Given the description of an element on the screen output the (x, y) to click on. 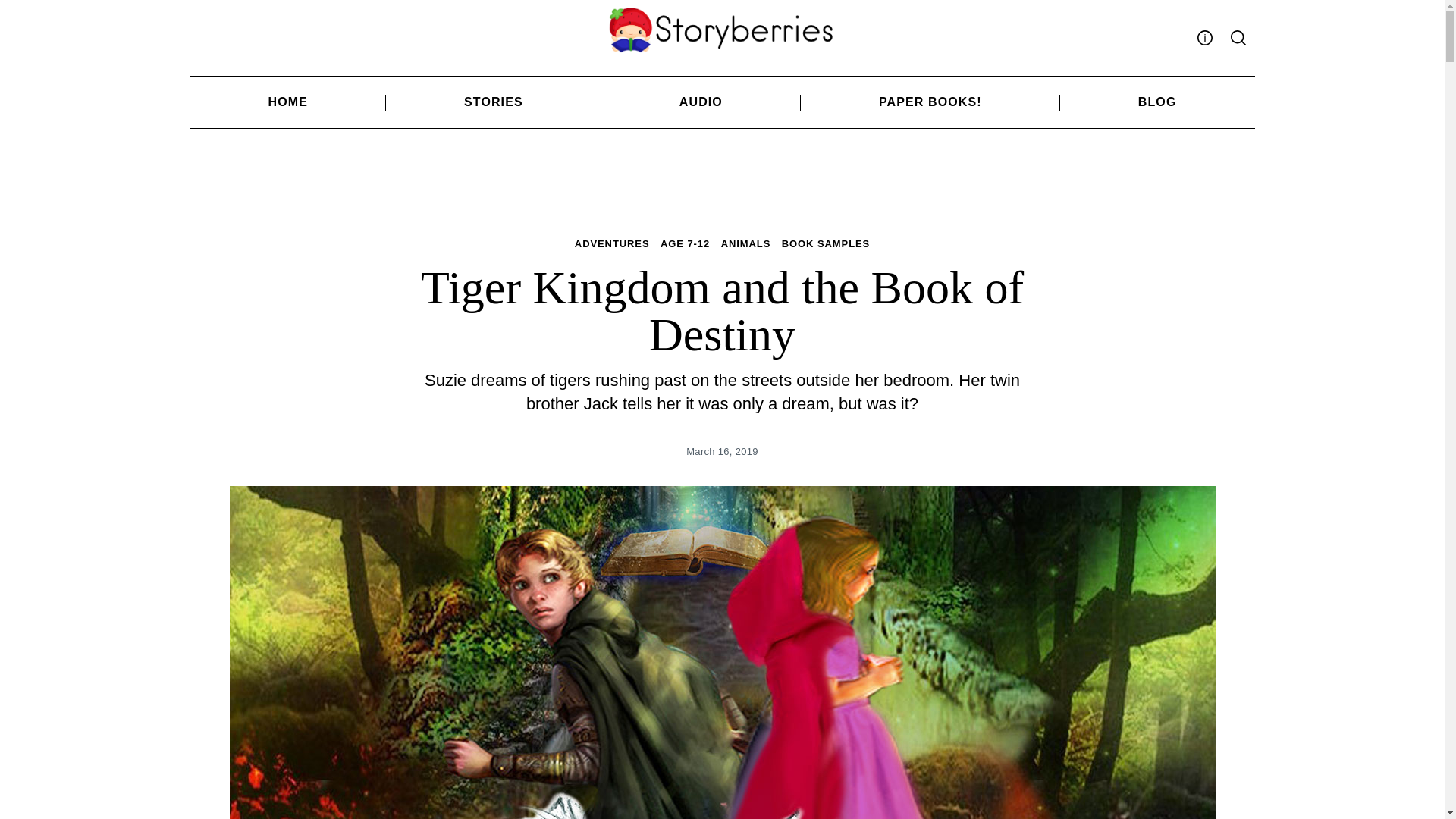
AUDIO (700, 102)
HOME (287, 102)
BOOK SAMPLES (825, 244)
BLOG (1157, 102)
ADVENTURES (612, 244)
STORIES (493, 102)
PAPER BOOKS! (929, 102)
ANIMALS (745, 244)
AGE 7-12 (685, 244)
